Given the description of an element on the screen output the (x, y) to click on. 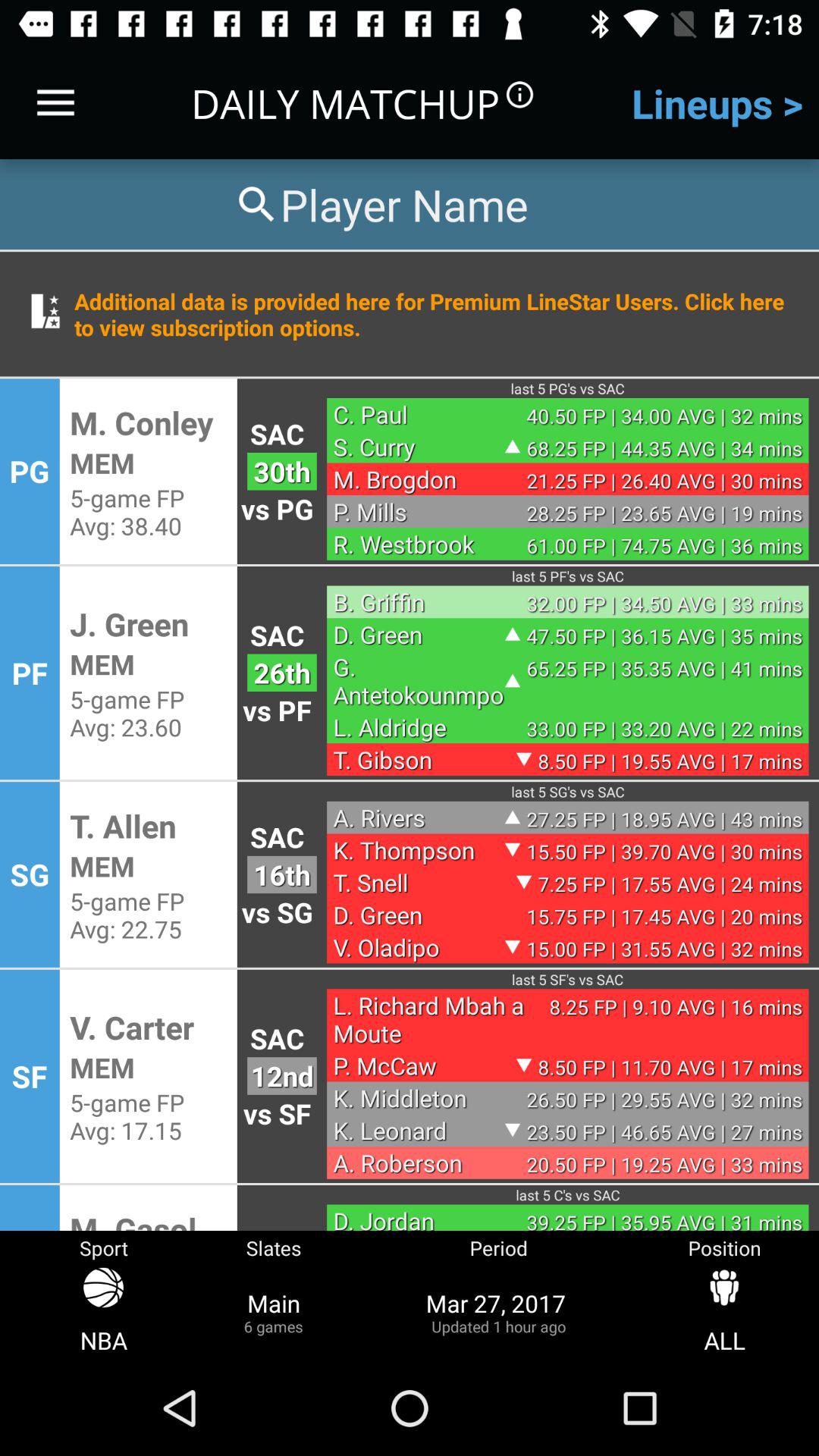
click icon to the right of the sac item (418, 601)
